Given the description of an element on the screen output the (x, y) to click on. 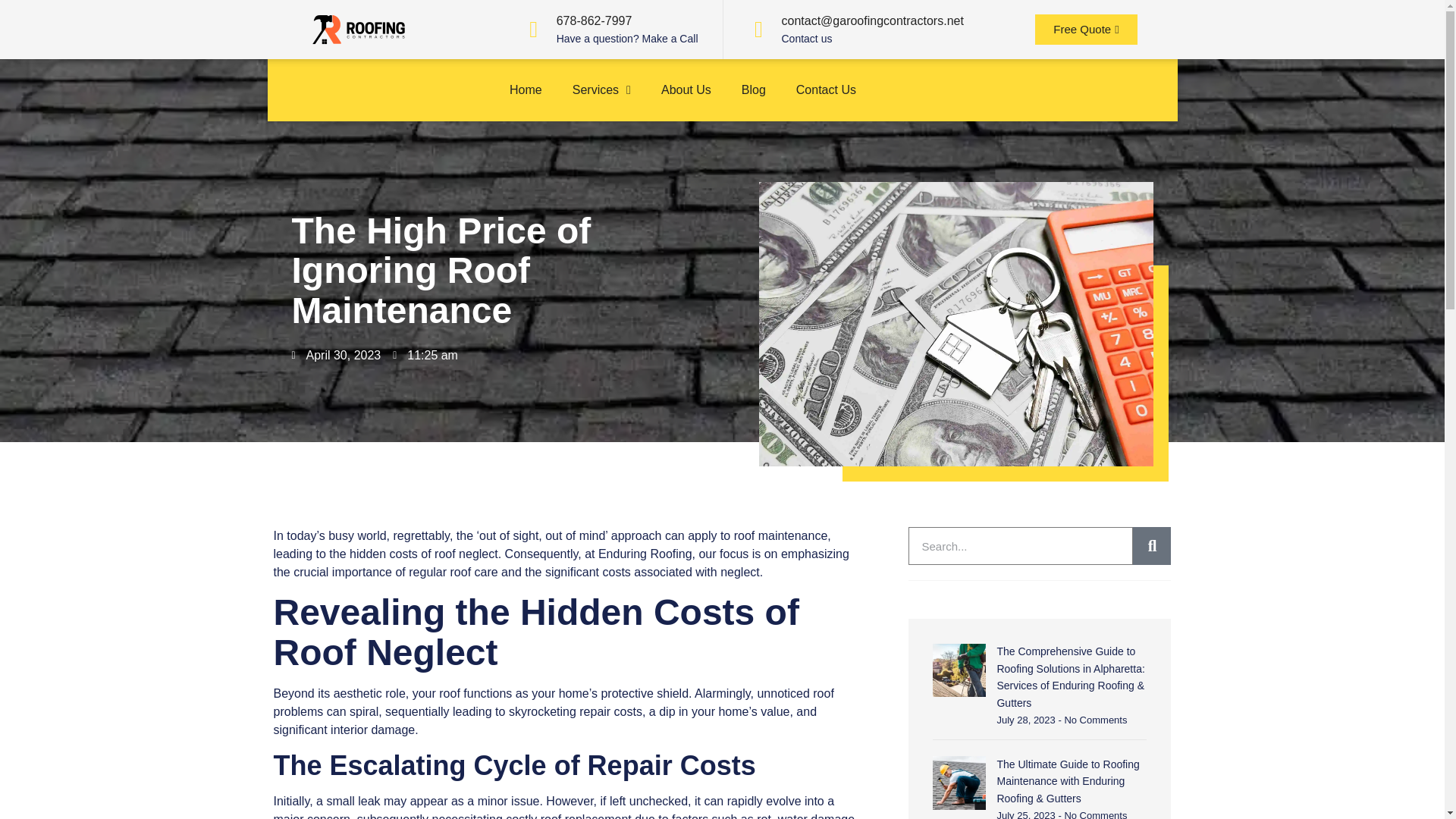
Services (601, 50)
Contact Us (825, 76)
RC-Website (357, 29)
Free Quote (1086, 29)
678-862-7997 (593, 20)
April 30, 2023 (330, 355)
About Us (686, 72)
Blog (753, 75)
Home (526, 44)
